Given the description of an element on the screen output the (x, y) to click on. 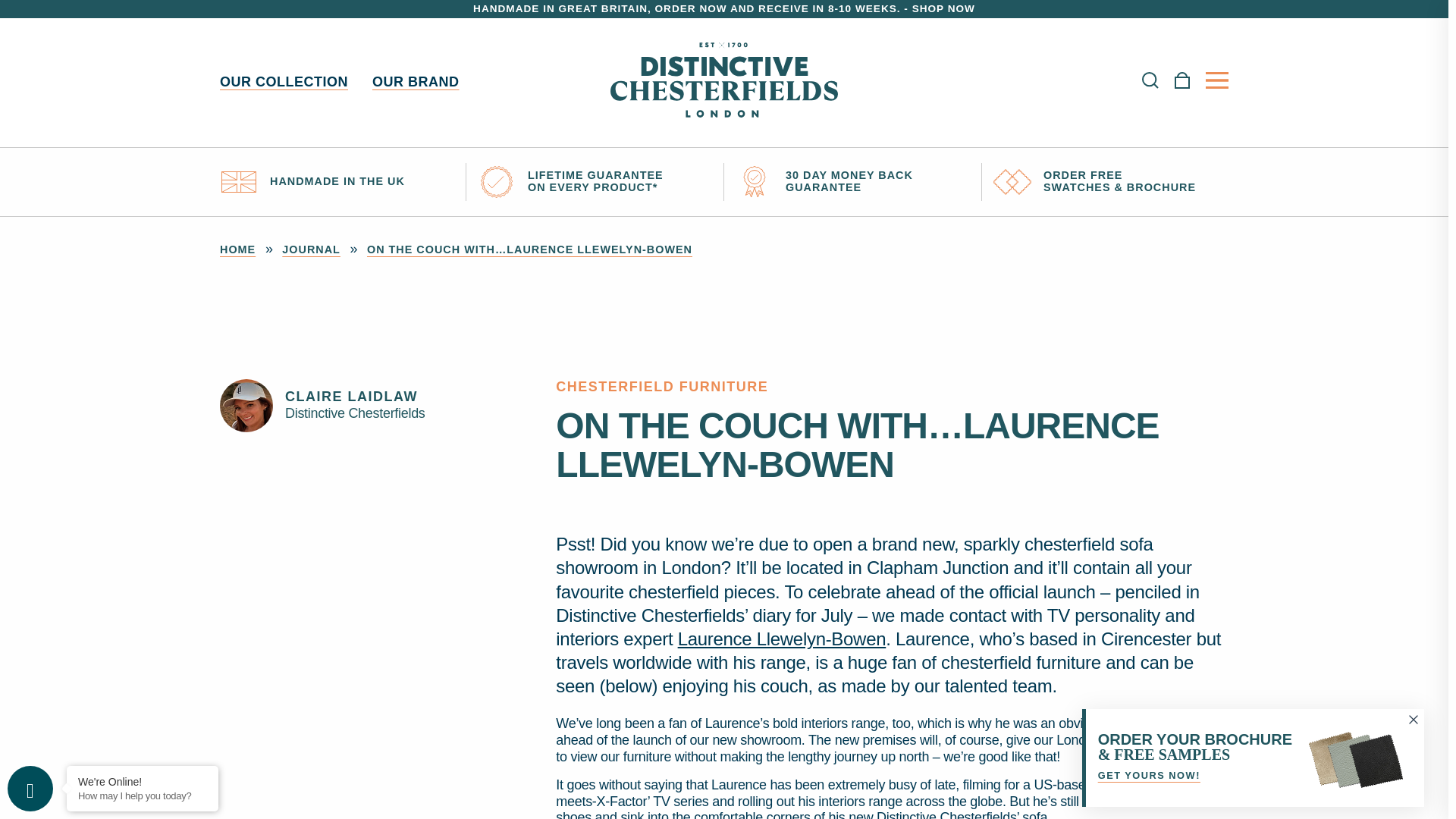
Distinctive Chesterfields - USA (724, 82)
OUR BRAND (416, 81)
How may I help you today? (142, 795)
Order your FREE Samples now! (1252, 757)
OUR COLLECTION (283, 81)
 View your shopping basket (1181, 83)
SHOP NOW (943, 8)
Menu (1216, 80)
We're Online! (142, 781)
Shop Now! (943, 8)
